Given the description of an element on the screen output the (x, y) to click on. 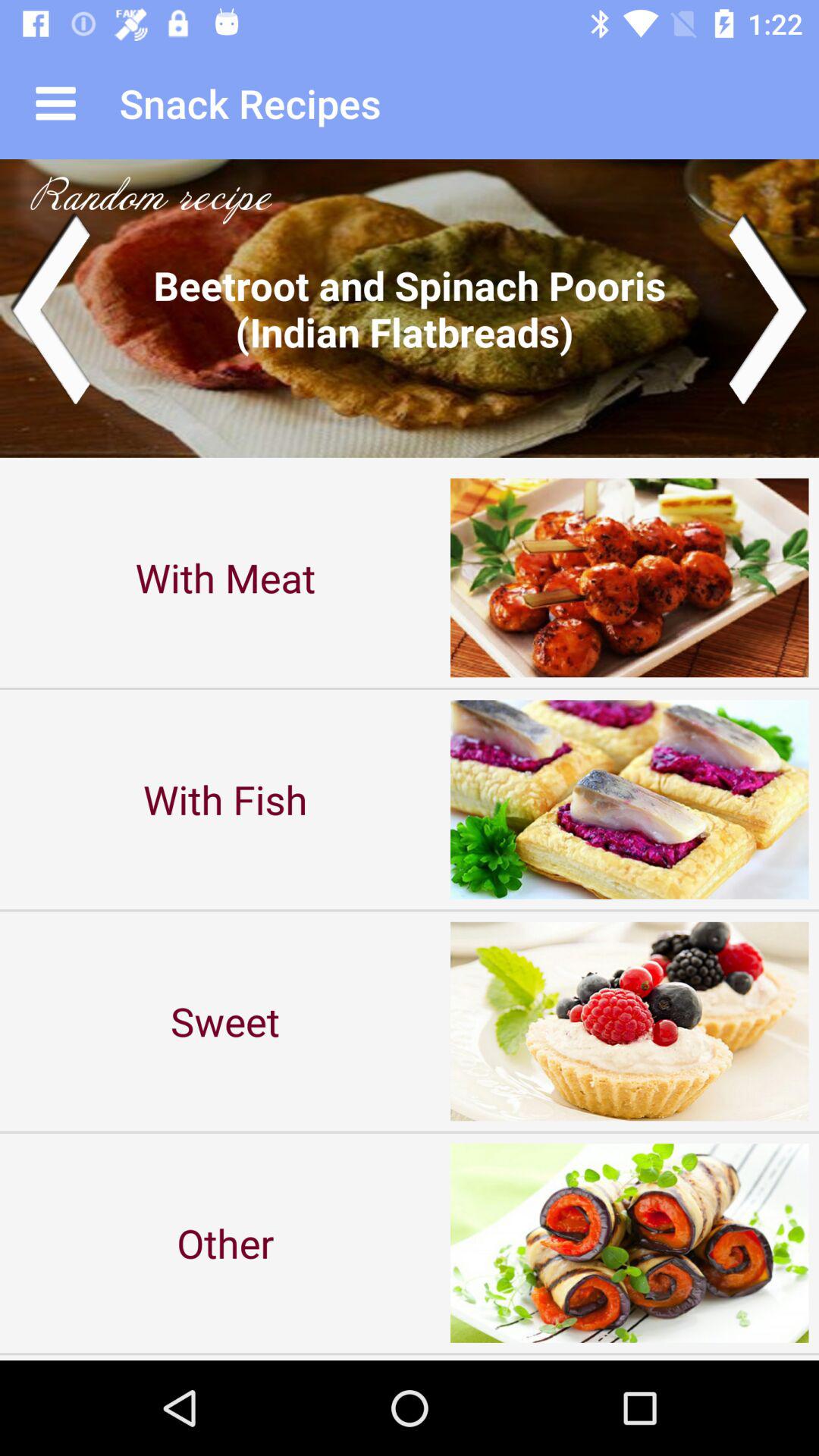
select item below the with meat (225, 798)
